Given the description of an element on the screen output the (x, y) to click on. 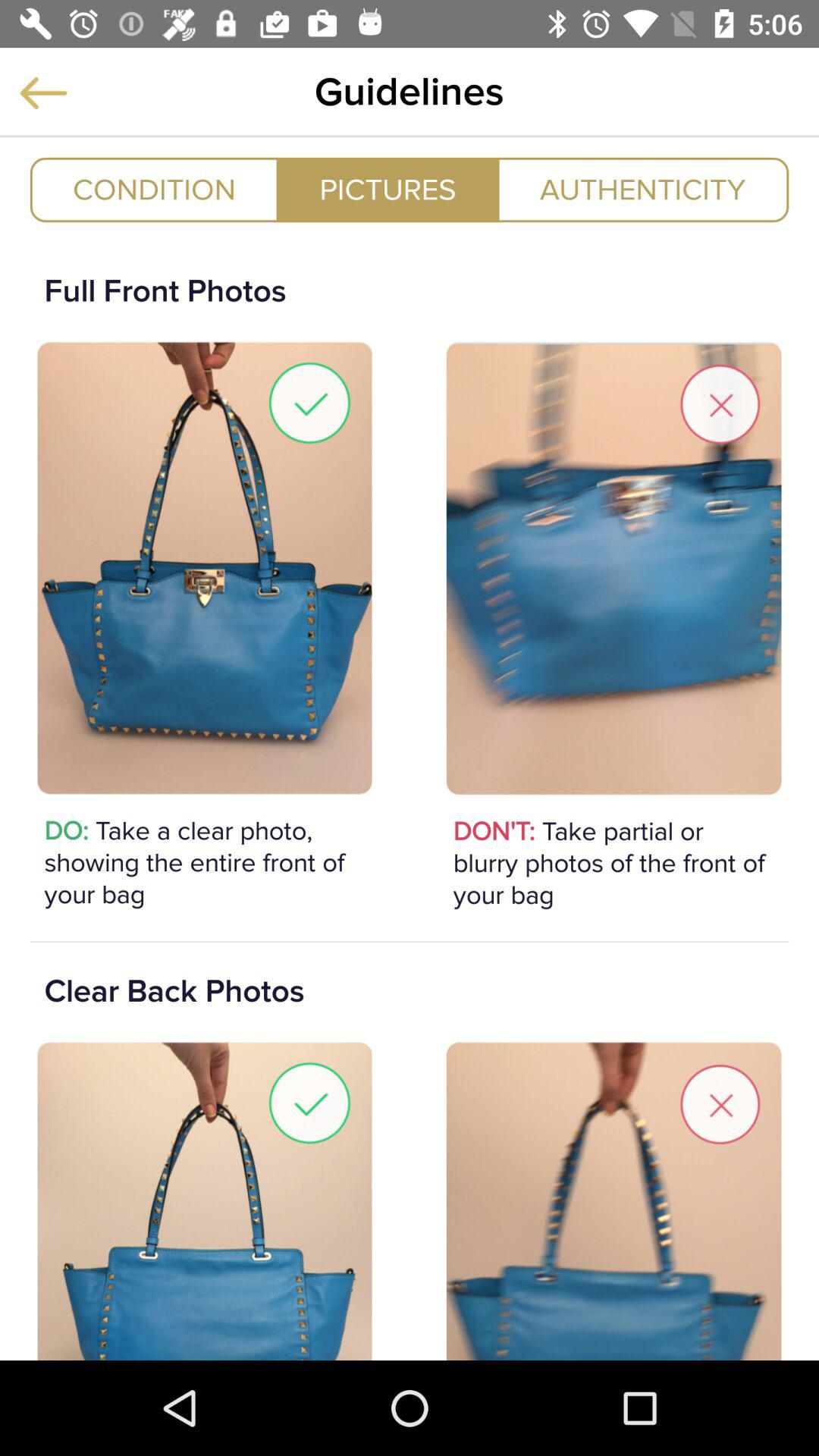
turn on icon to the right of pictures (642, 189)
